Given the description of an element on the screen output the (x, y) to click on. 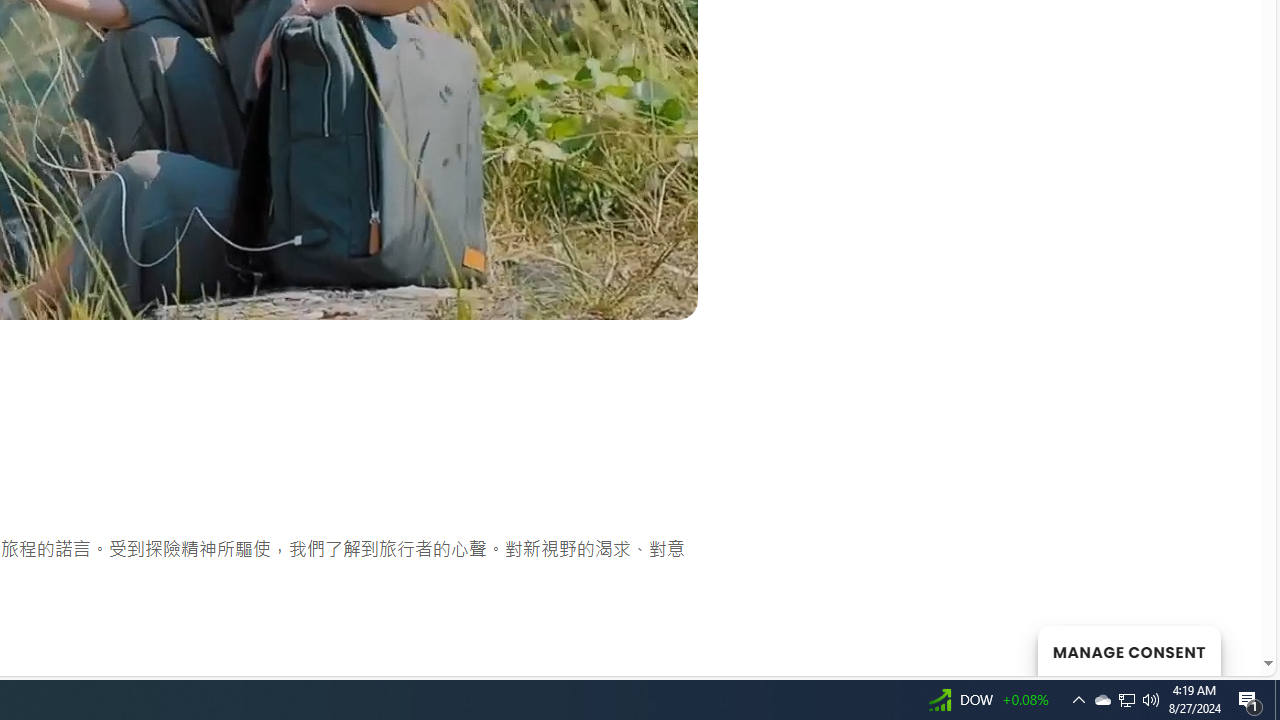
MANAGE CONSENT (1128, 650)
